Given the description of an element on the screen output the (x, y) to click on. 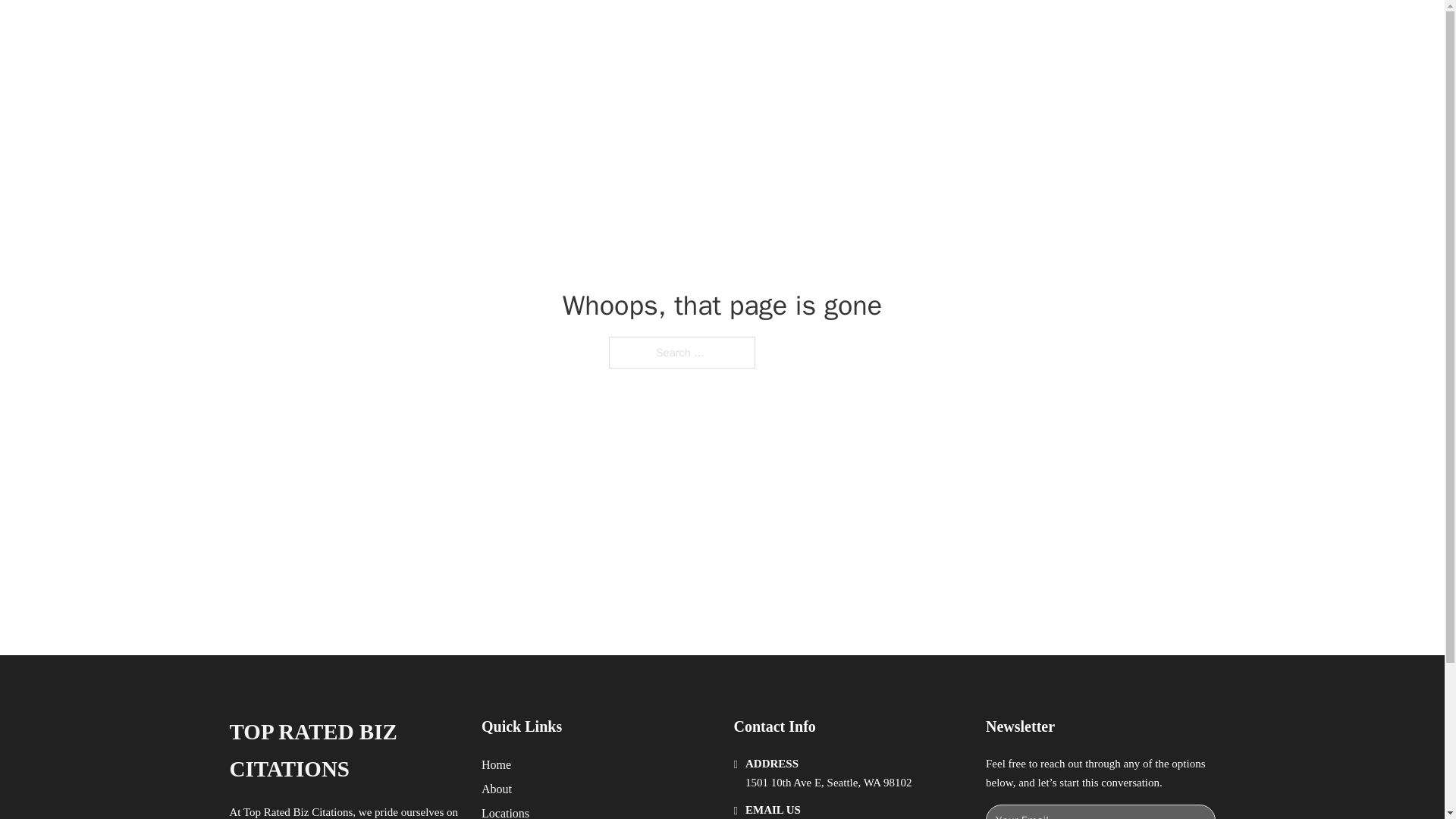
About (496, 788)
TOP RATED BIZ CITATIONS (438, 28)
HOME (919, 29)
LOCATIONS (990, 29)
TOP RATED BIZ CITATIONS (343, 750)
Locations (505, 811)
Home (496, 764)
